Given the description of an element on the screen output the (x, y) to click on. 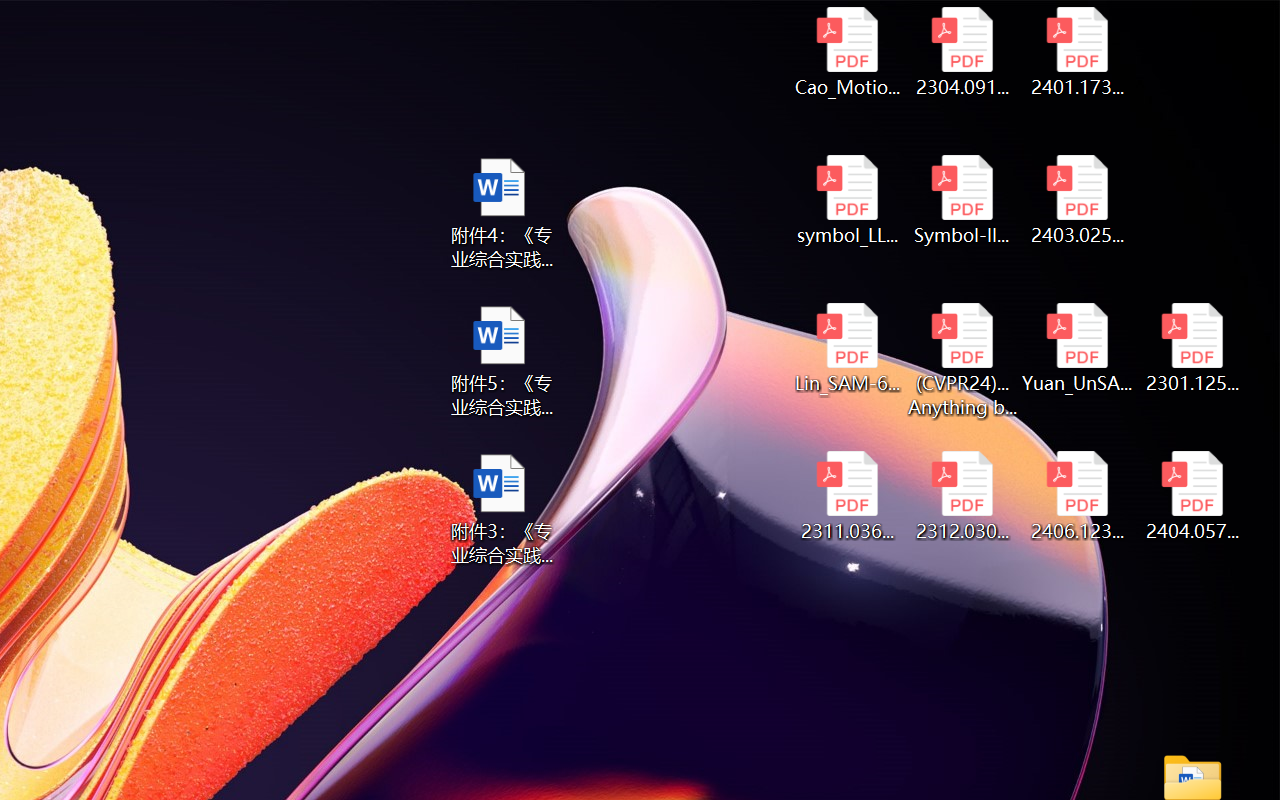
2401.17399v1.pdf (1077, 52)
2311.03658v2.pdf (846, 496)
2406.12373v2.pdf (1077, 496)
2404.05719v1.pdf (1192, 496)
2304.09121v3.pdf (962, 52)
(CVPR24)Matching Anything by Segmenting Anything.pdf (962, 360)
2312.03032v2.pdf (962, 496)
symbol_LLM.pdf (846, 200)
Symbol-llm-v2.pdf (962, 200)
2403.02502v1.pdf (1077, 200)
